Given the description of an element on the screen output the (x, y) to click on. 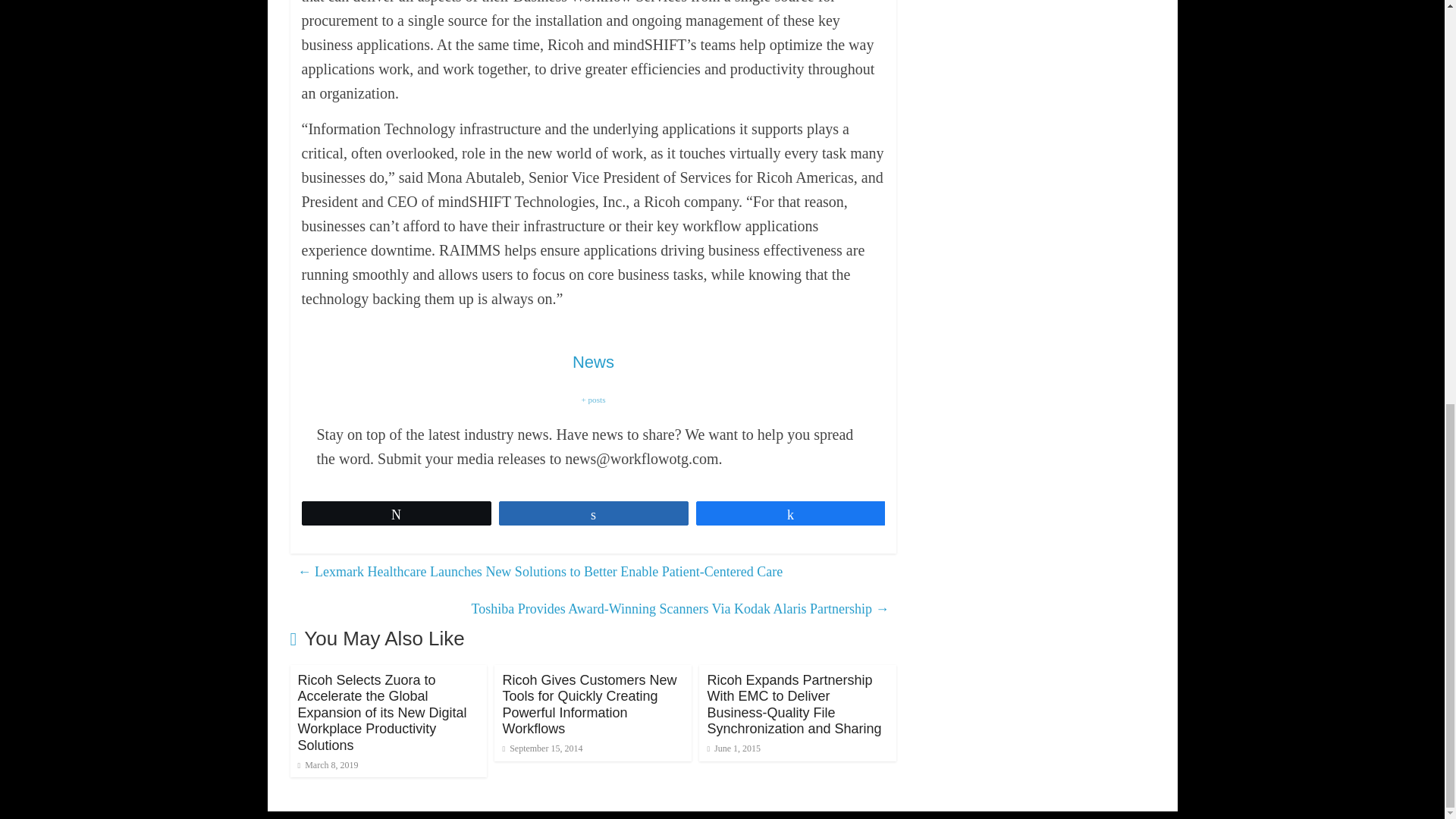
10:53 am (327, 765)
6:38 pm (542, 747)
